Given the description of an element on the screen output the (x, y) to click on. 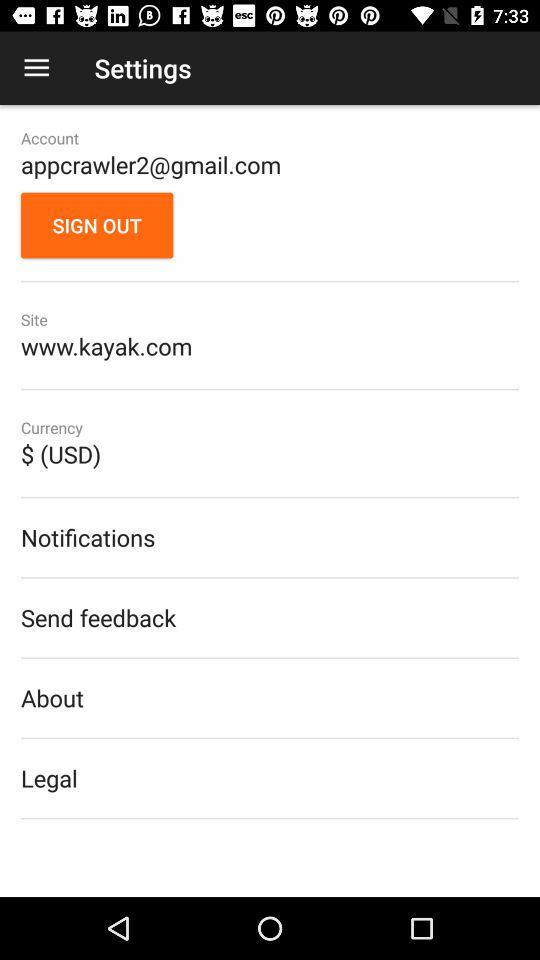
press item above account icon (36, 68)
